Given the description of an element on the screen output the (x, y) to click on. 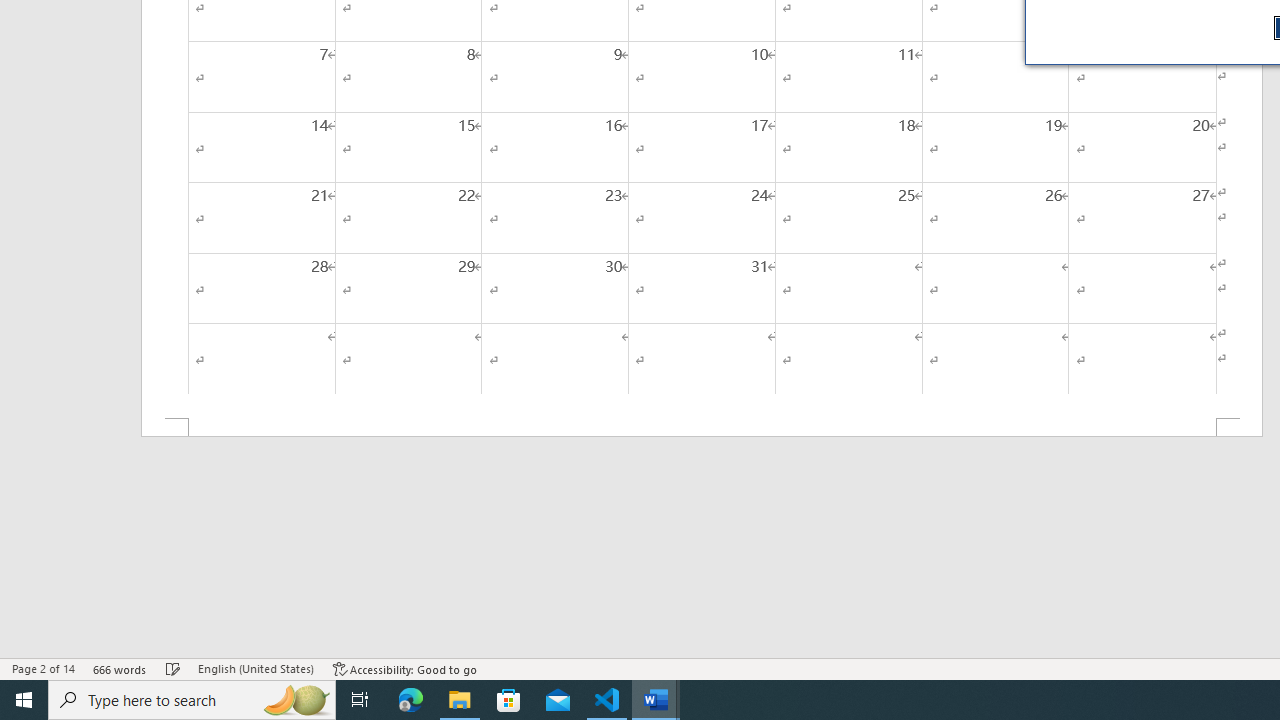
Word - 2 running windows (656, 699)
Word Count 666 words (119, 668)
File Explorer - 1 running window (460, 699)
Page Number Page 2 of 14 (43, 668)
